Given the description of an element on the screen output the (x, y) to click on. 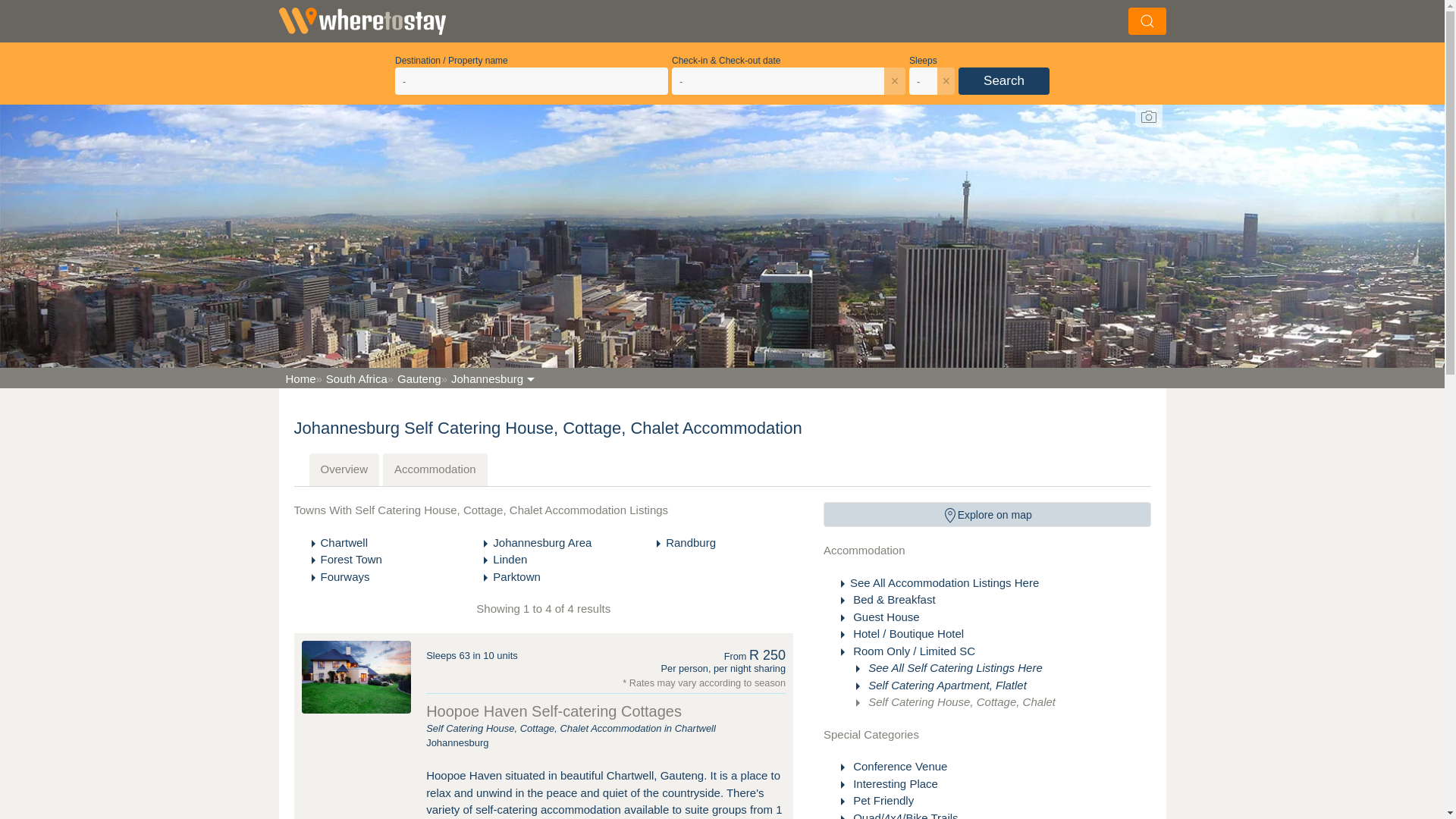
Overview (344, 469)
See All Accommodation Listings Here (944, 582)
Gauteng (414, 378)
Interesting Place (893, 783)
Guest House (885, 616)
Chartwell (344, 542)
Explore on map (987, 514)
Accommodation (434, 469)
South Africa (351, 378)
Accommodation (987, 550)
